Given the description of an element on the screen output the (x, y) to click on. 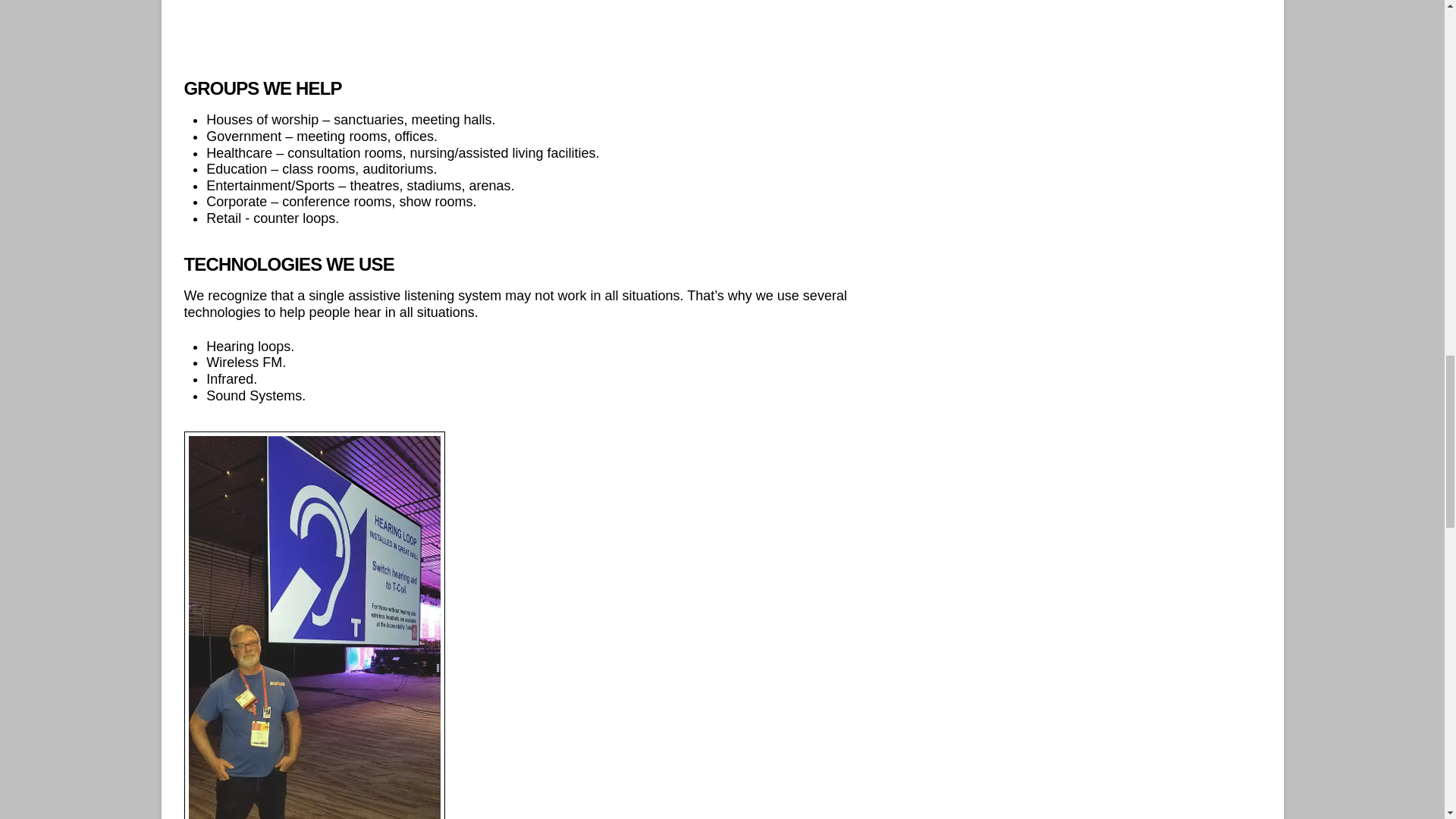
Hearing Loops: With and Without (539, 27)
